Given the description of an element on the screen output the (x, y) to click on. 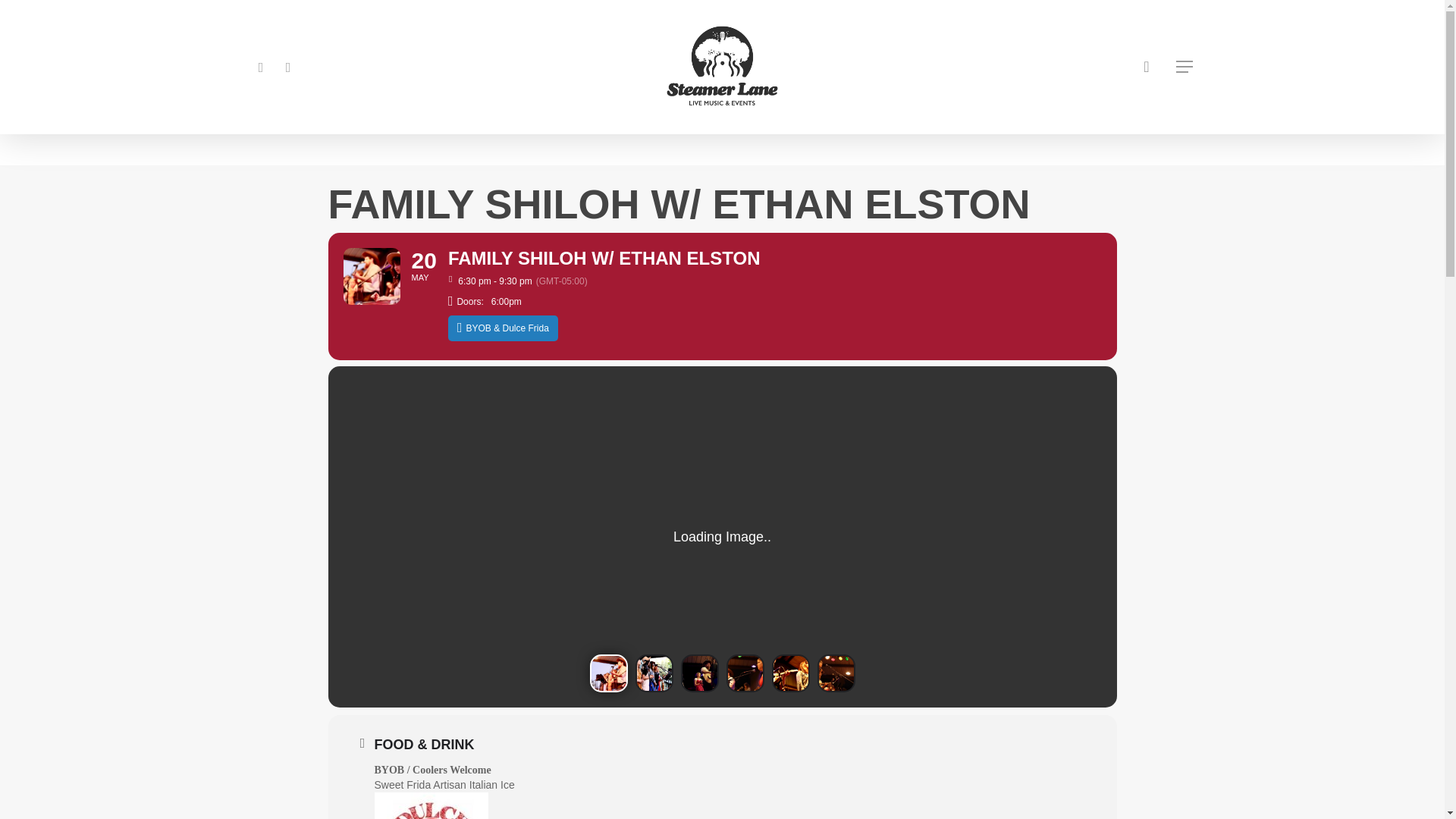
Menu (1184, 66)
FACEBOOK (261, 67)
INSTAGRAM (288, 67)
